Given the description of an element on the screen output the (x, y) to click on. 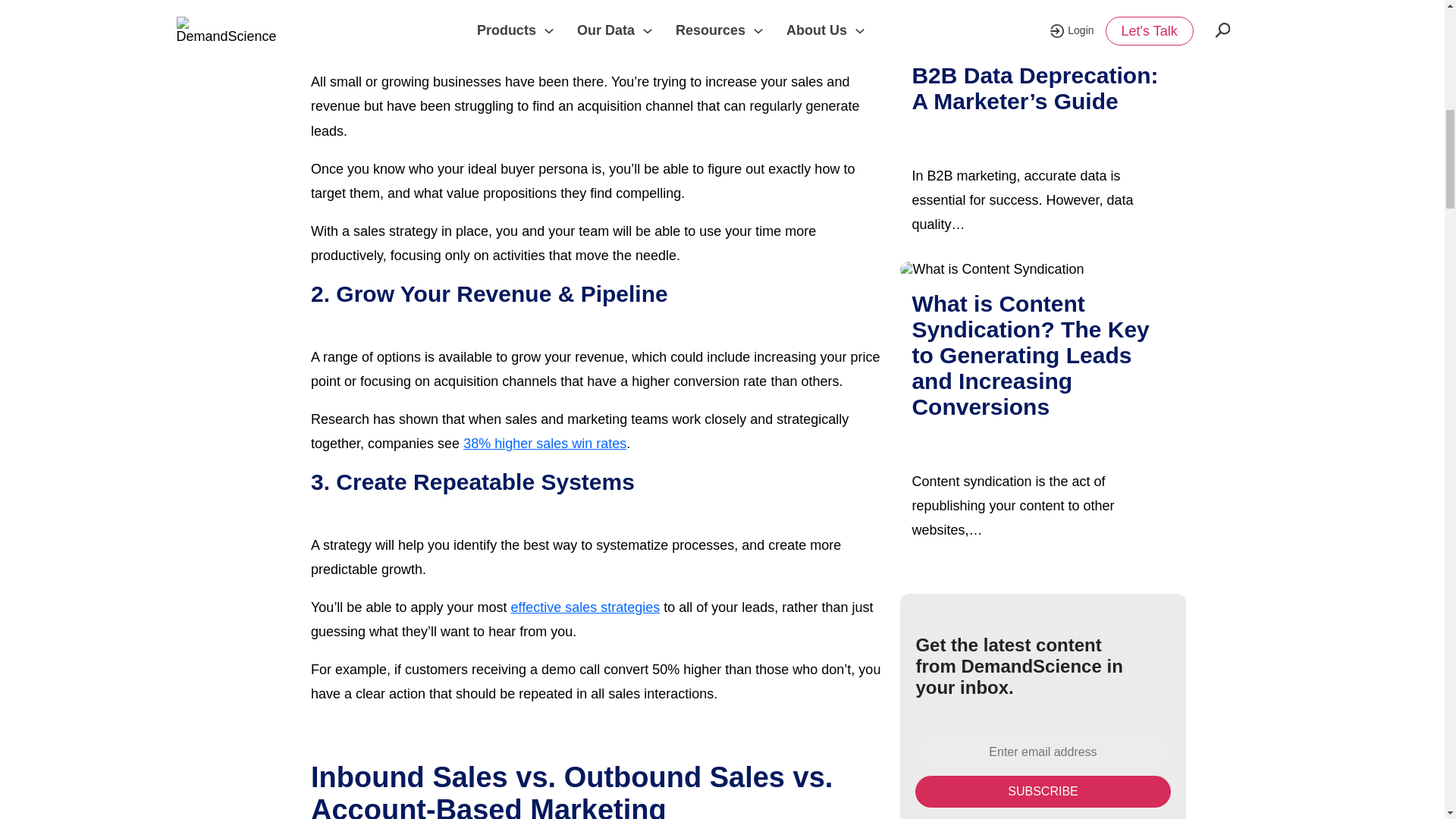
Subscribe (1042, 791)
